Given the description of an element on the screen output the (x, y) to click on. 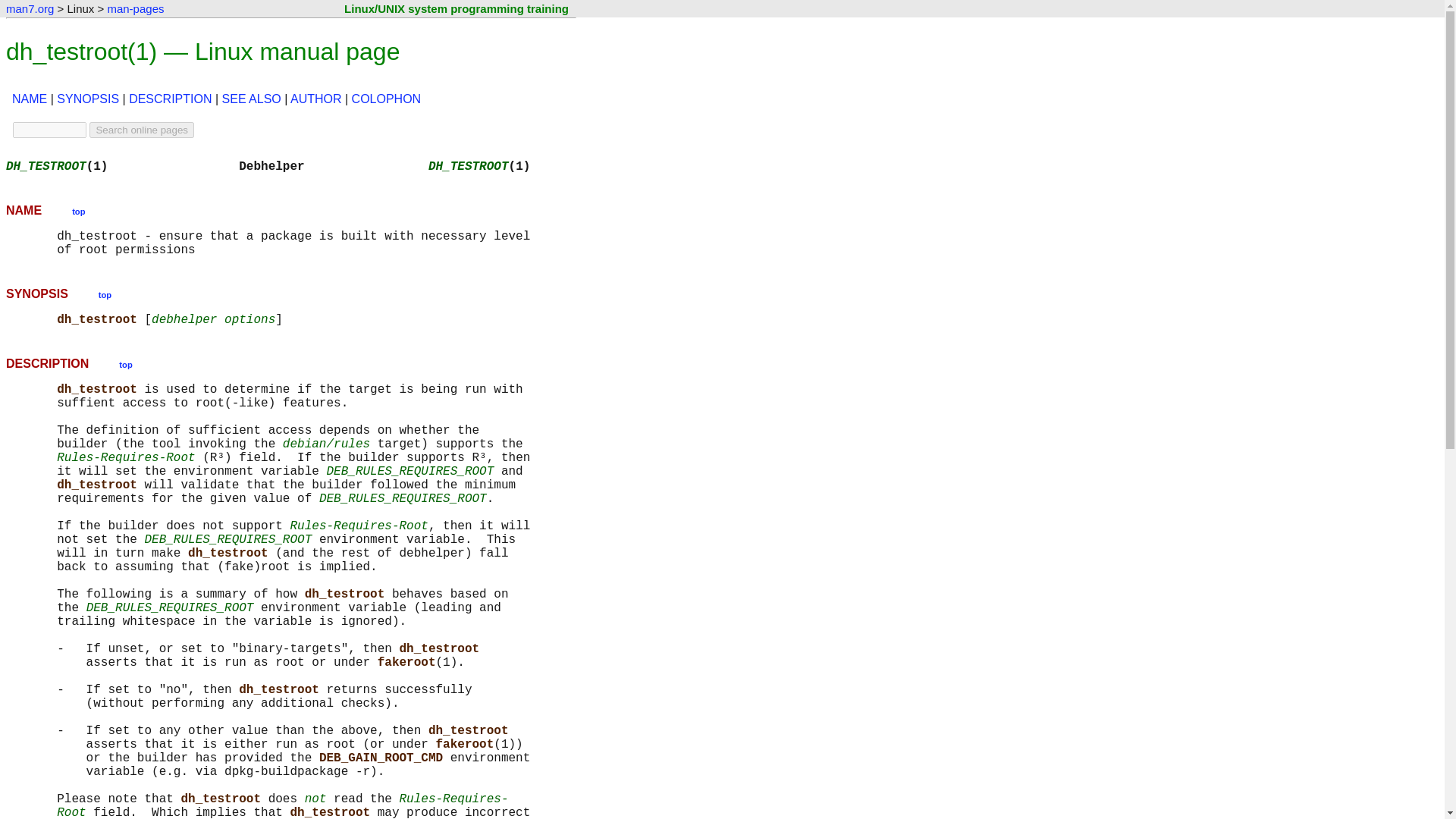
SEE ALSO (251, 98)
NAME (28, 98)
DESCRIPTION (170, 98)
Search online pages (140, 130)
SYNOPSIS (87, 98)
AUTHOR (315, 98)
COLOPHON (387, 98)
top (105, 293)
top (77, 210)
man7.org (29, 8)
